Given the description of an element on the screen output the (x, y) to click on. 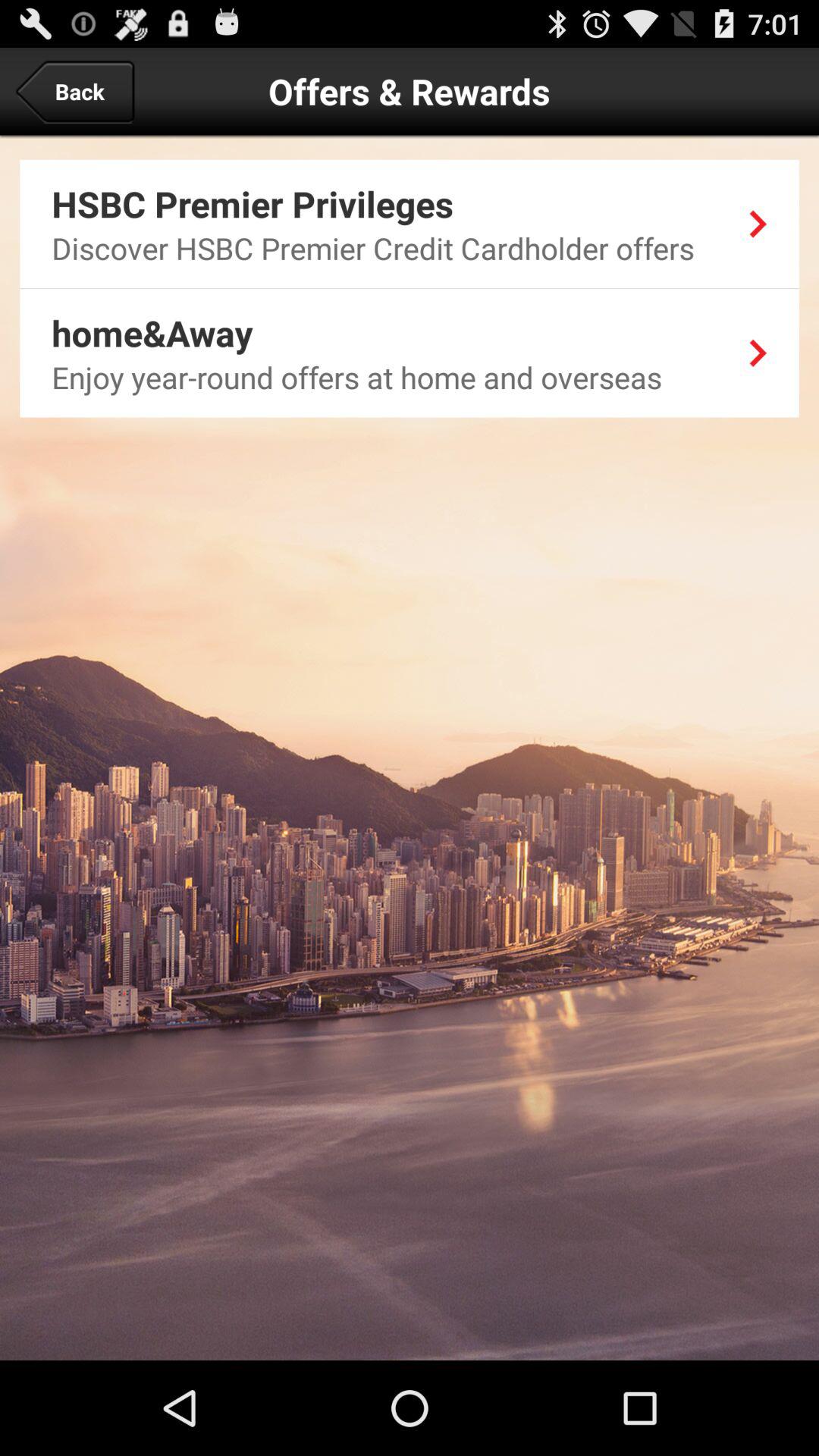
tap the app next to the offers & rewards item (73, 91)
